Given the description of an element on the screen output the (x, y) to click on. 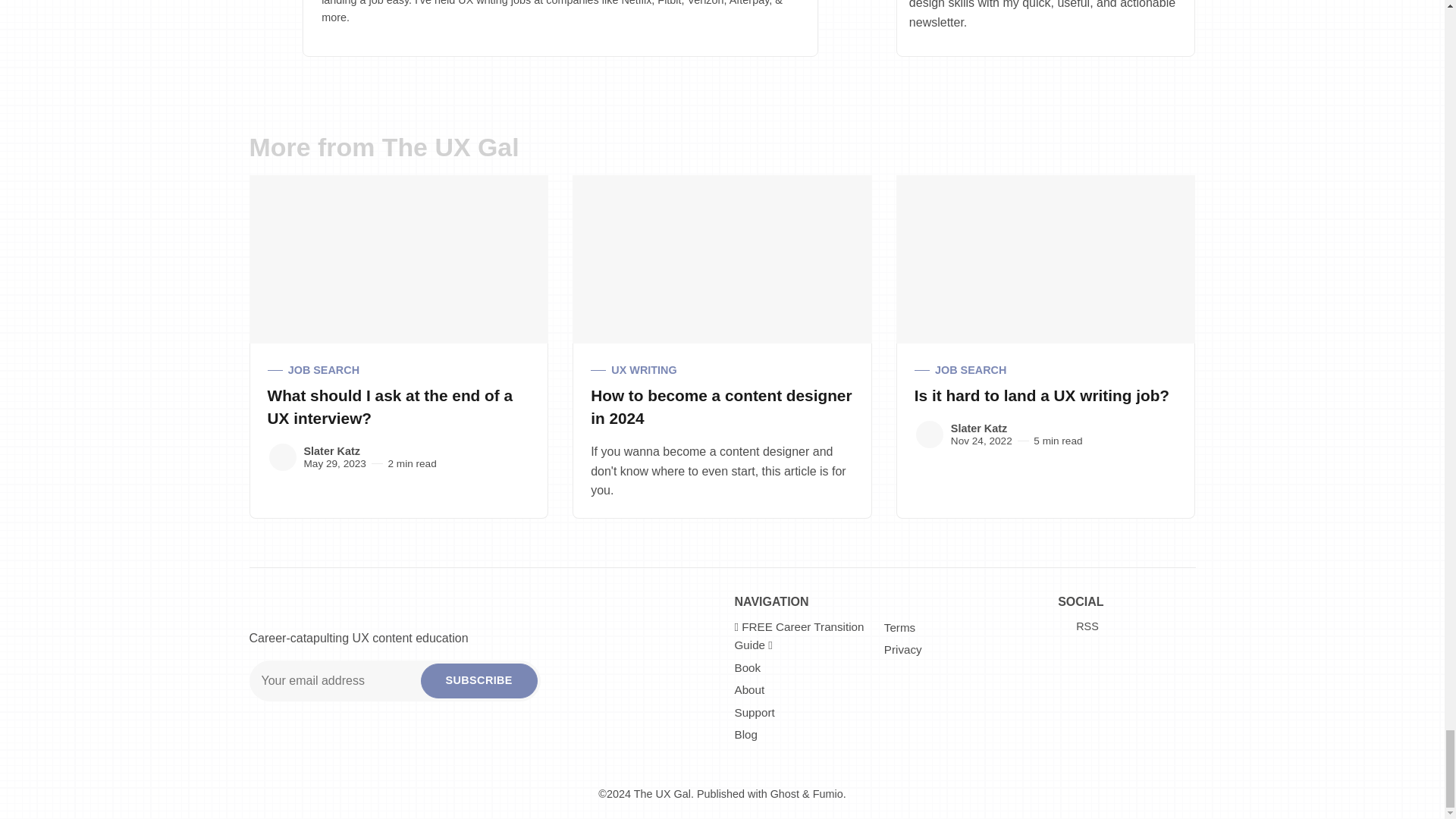
Slater Katz (281, 457)
Slater Katz (929, 434)
